Given the description of an element on the screen output the (x, y) to click on. 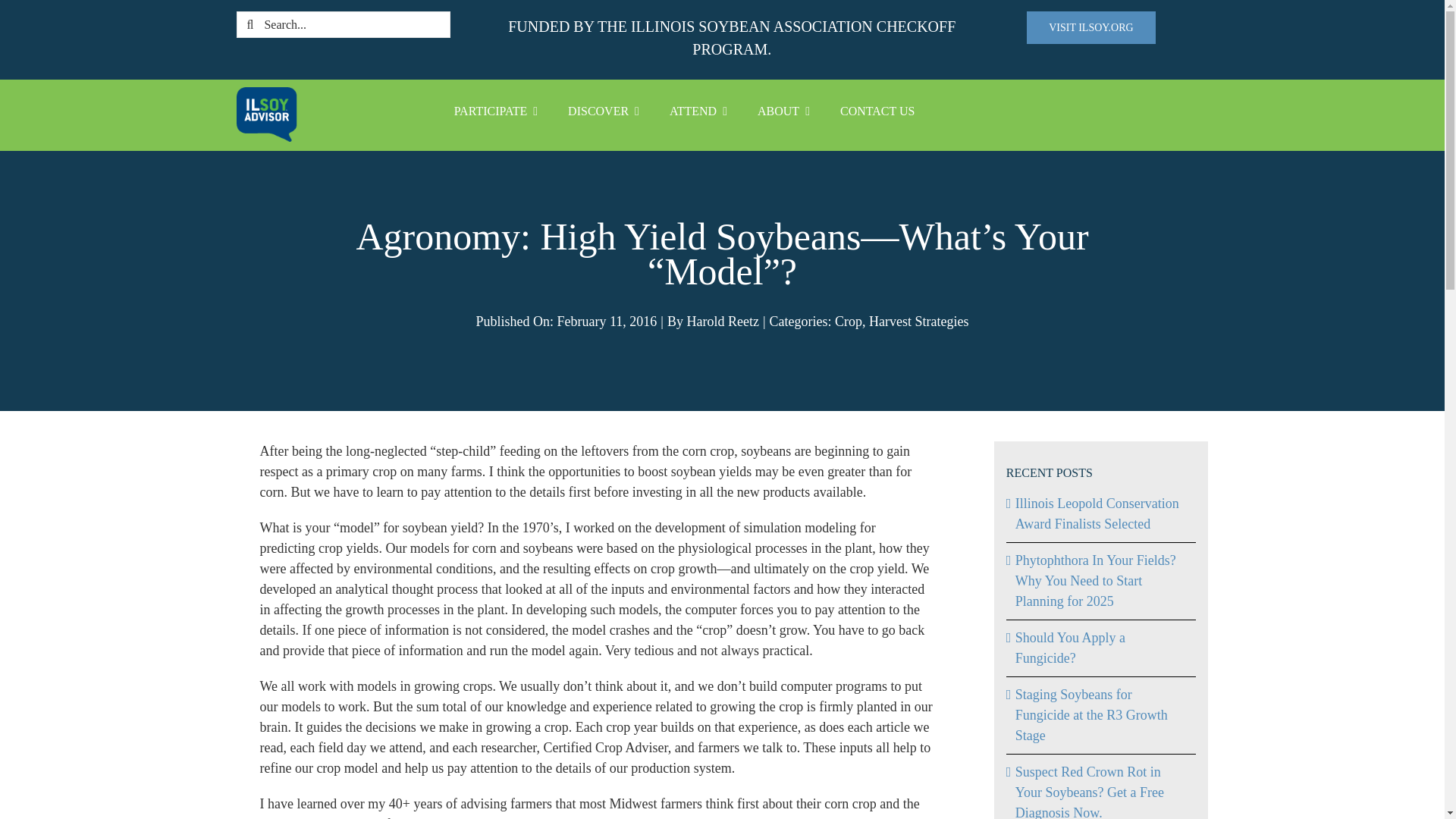
VISIT ILSOY.ORG (1091, 27)
PARTICIPATE (496, 111)
DISCOVER (603, 111)
Staging Soybeans for Fungicide at the R3 Growth Stage (1090, 714)
Should You Apply a Fungicide? (1069, 647)
ATTEND (697, 111)
Illinois Leopold Conservation Award Finalists Selected (1096, 513)
CONTACT US (877, 111)
Posts by Harold Reetz (721, 321)
ABOUT (783, 111)
Harvest Strategies (918, 321)
Crop (847, 321)
Harold Reetz (721, 321)
